Given the description of an element on the screen output the (x, y) to click on. 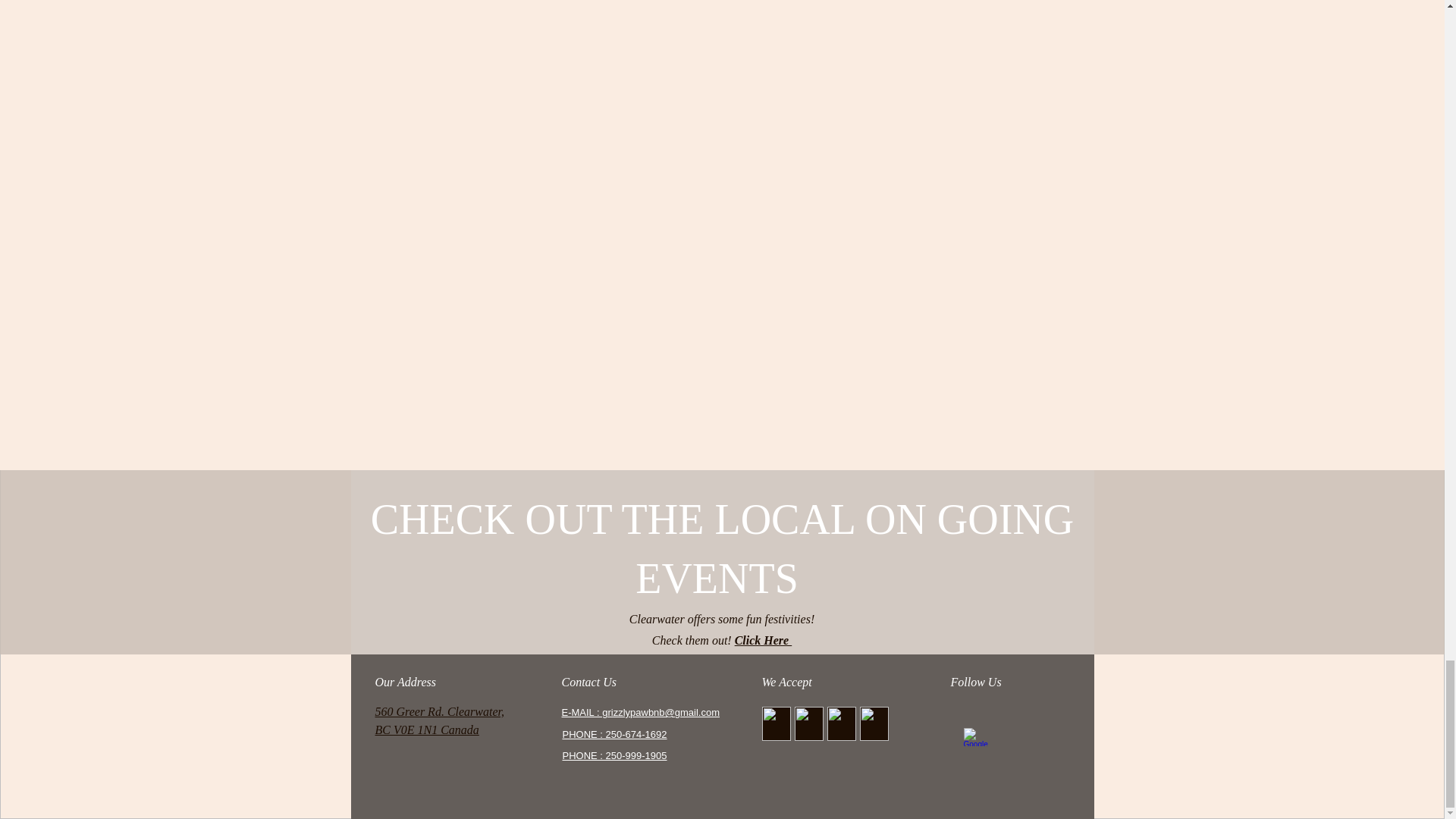
PHONE : 250-999-1905 (614, 755)
Click Here  (763, 640)
PHONE : 250-674-1692 (614, 734)
560 Greer Rd. Clearwater, BC V0E 1N1 Canada (438, 720)
